Given the description of an element on the screen output the (x, y) to click on. 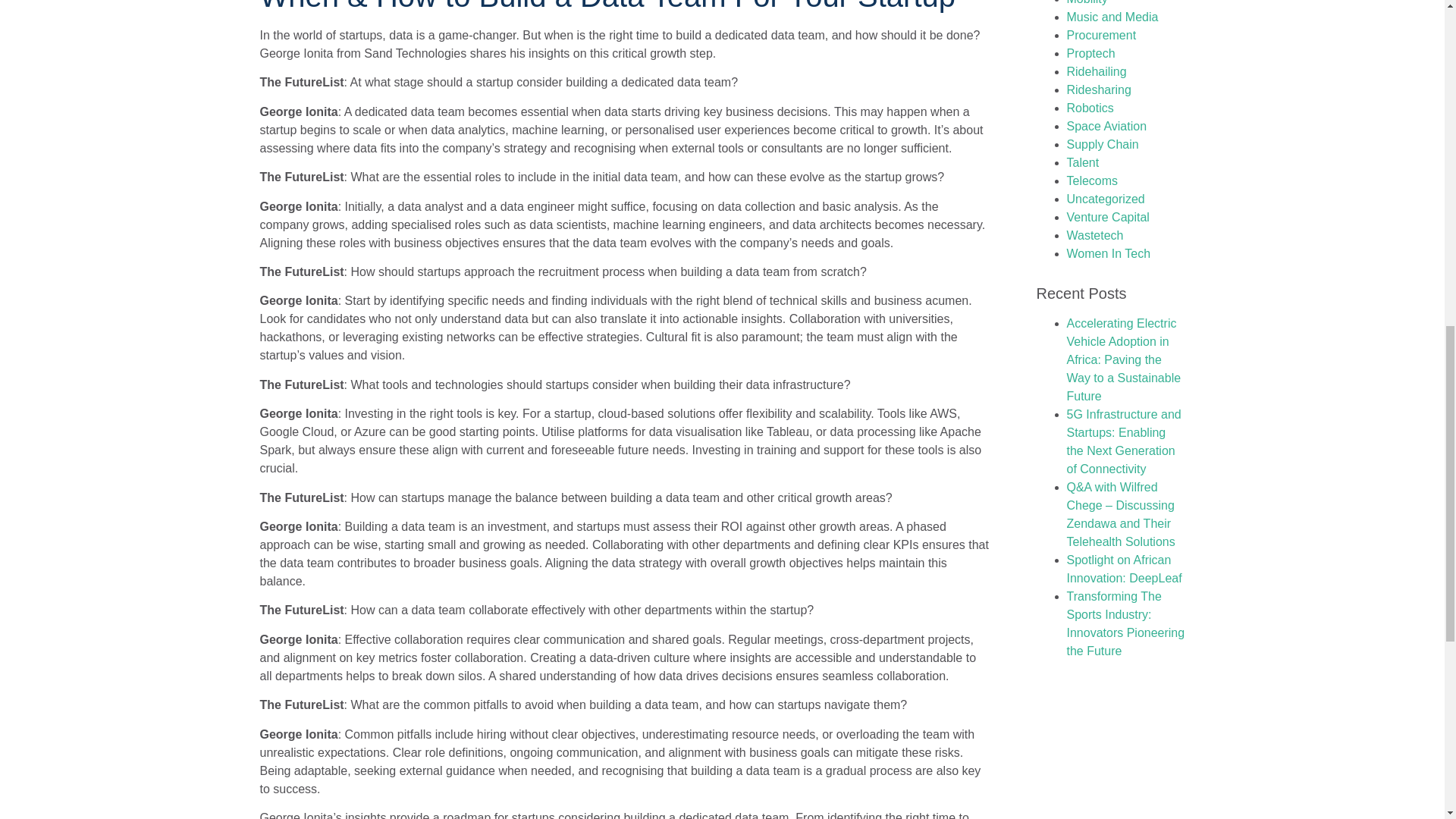
Supply Chain (1101, 144)
Proptech (1090, 52)
Procurement (1100, 34)
Space Aviation (1106, 125)
Music and Media (1111, 16)
Ridehailing (1095, 71)
Talent (1082, 162)
Mobility (1085, 2)
Robotics (1089, 107)
Ridesharing (1098, 89)
